Given the description of an element on the screen output the (x, y) to click on. 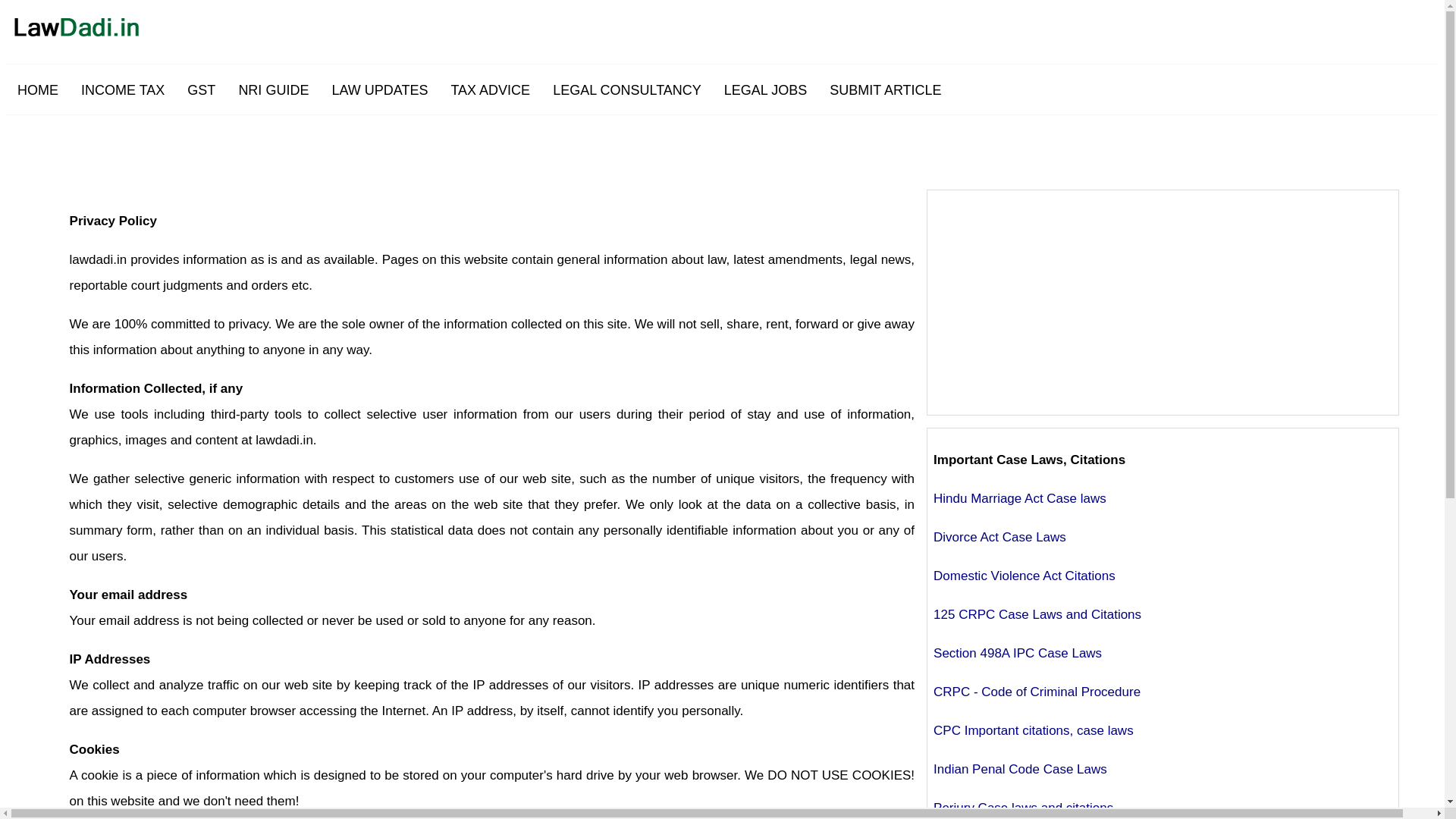
Advertisement (1162, 302)
Section 498A IPC Case Laws (1017, 653)
LEGAL JOBS (765, 89)
LAW UPDATES (379, 89)
CRPC - Code of Criminal Procedure (1036, 691)
TAX ADVICE (490, 89)
LEGAL CONSULTANCY (627, 89)
Hindu Marriage Act Case laws (1019, 498)
SUBMIT ARTICLE (885, 89)
Perjury Case laws and citations (1023, 807)
Advertisement (759, 149)
HOME (37, 89)
GST (201, 89)
INCOME TAX (122, 89)
Indian Penal Code Case Laws (1019, 769)
